Given the description of an element on the screen output the (x, y) to click on. 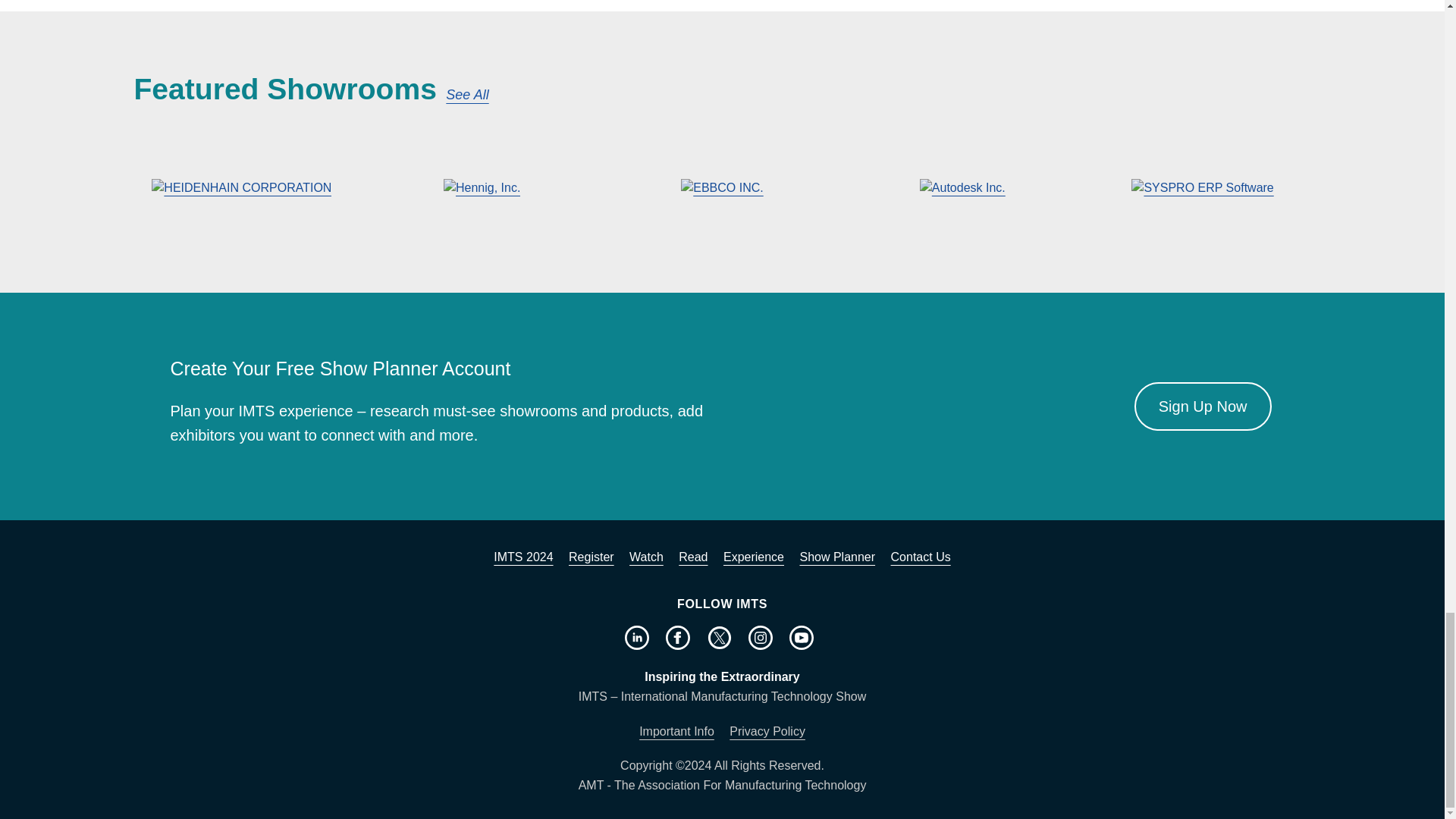
Visit HEIDENHAIN CORPORATION showroom (241, 187)
Visit Autodesk Inc. showroom (962, 187)
Visit EBBCO INC. showroom (721, 187)
Visit SYSPRO ERP Software showroom (1202, 187)
Visit Hennig, Inc. showroom (481, 187)
See all featured showrooms (466, 95)
